Given the description of an element on the screen output the (x, y) to click on. 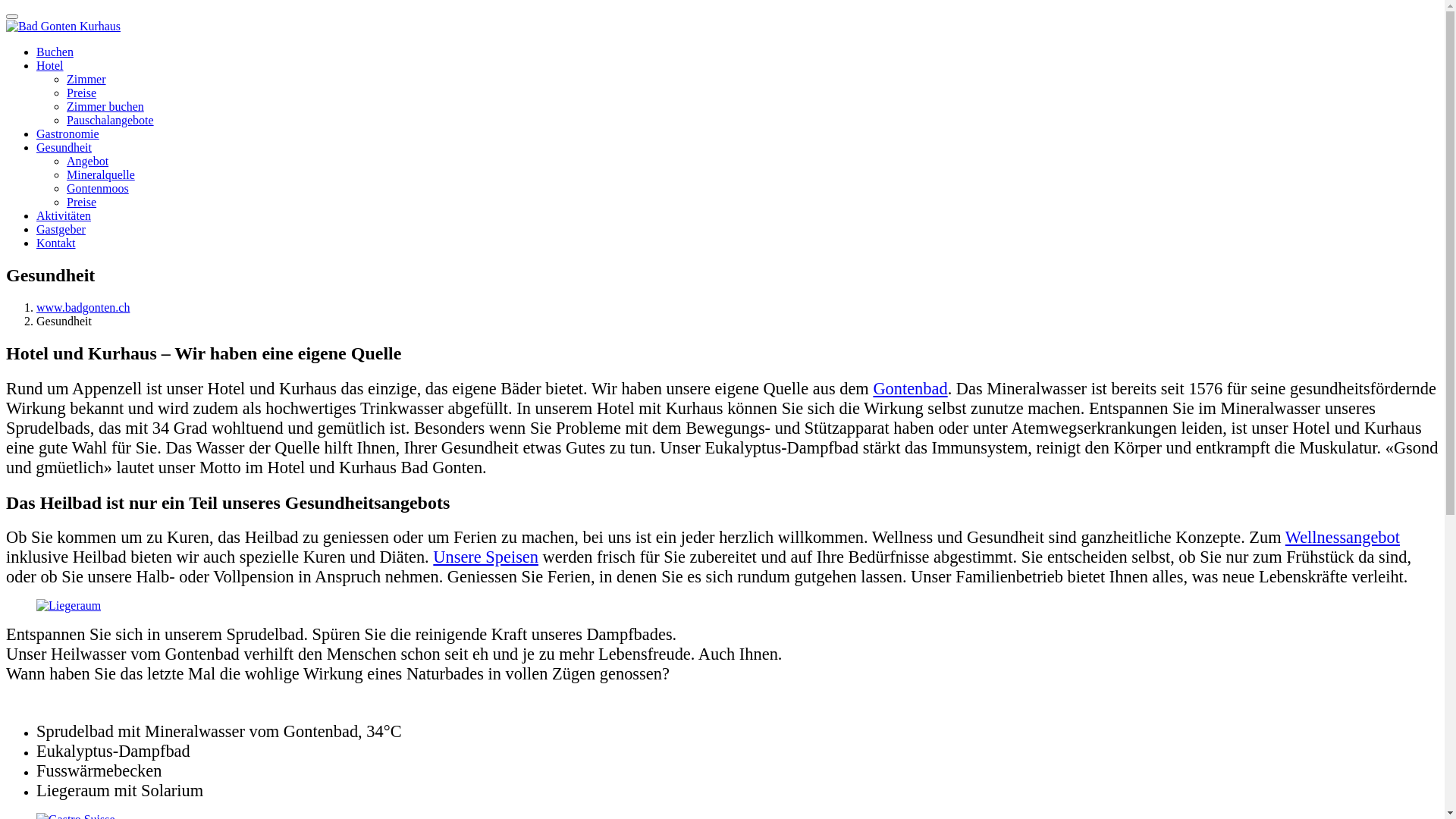
Unsere Speisen Element type: text (485, 556)
Gastgeber Element type: text (60, 228)
Zimmer buchen Element type: text (105, 106)
Buchen Element type: text (54, 51)
Mineralquelle Element type: text (100, 174)
Zimmer Element type: text (86, 78)
Gastronomie Element type: text (67, 133)
Gontenbad Element type: text (909, 388)
Home Element type: hover (63, 25)
Wellnessangebot Element type: text (1342, 536)
Gontenmoos Element type: text (97, 188)
Preise Element type: text (81, 201)
Angebot Element type: text (87, 160)
www.badgonten.ch Element type: text (82, 307)
Kontakt Element type: text (55, 242)
Gesundheit Element type: text (63, 147)
Preise Element type: text (81, 92)
Pauschalangebote Element type: text (109, 119)
Hotel Element type: text (49, 65)
